Given the description of an element on the screen output the (x, y) to click on. 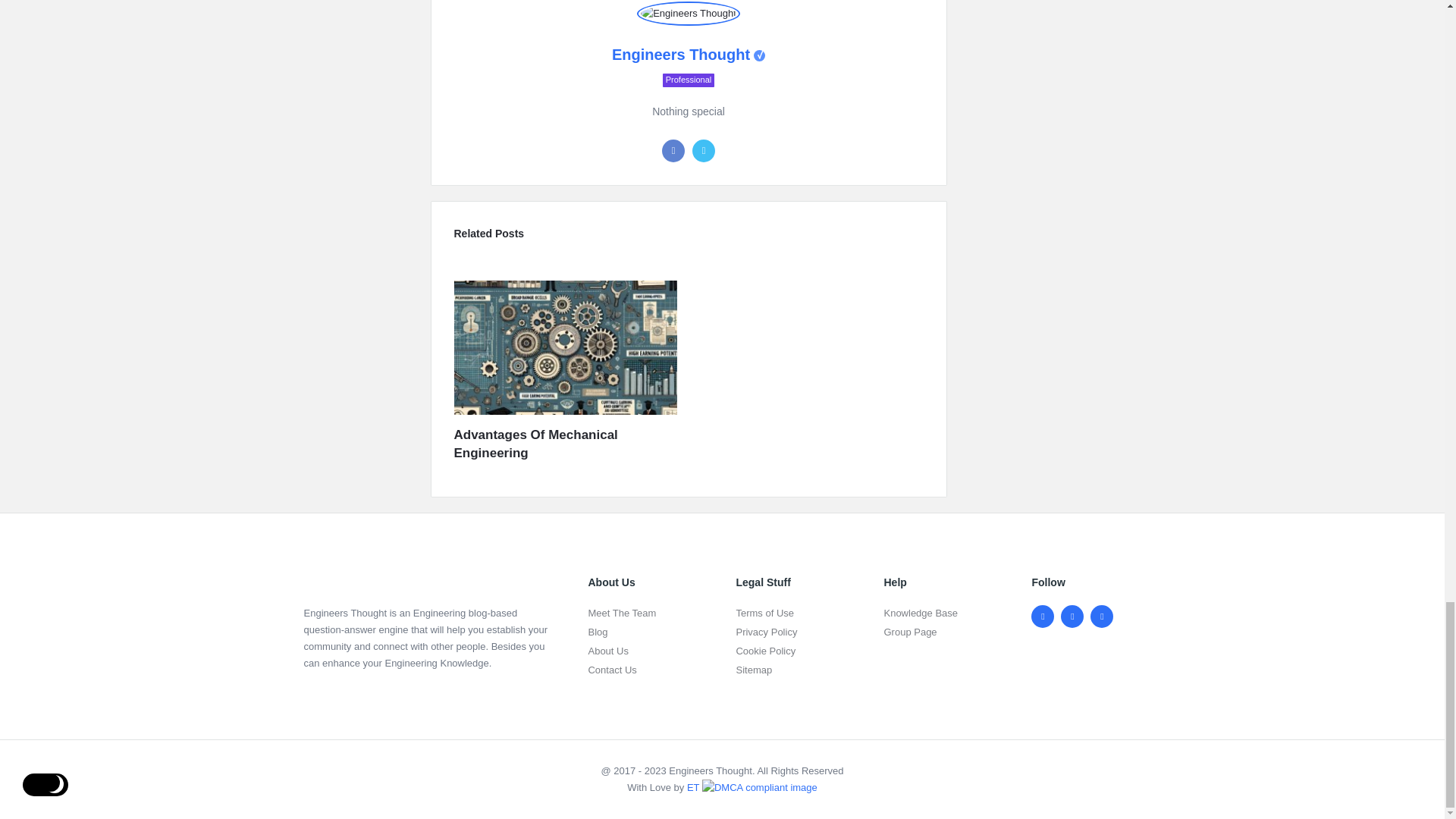
Facebook (673, 150)
Engineers Thought (688, 13)
Twitter (703, 150)
Advantages Of Mechanical Engineering (564, 443)
Verified (759, 55)
